Given the description of an element on the screen output the (x, y) to click on. 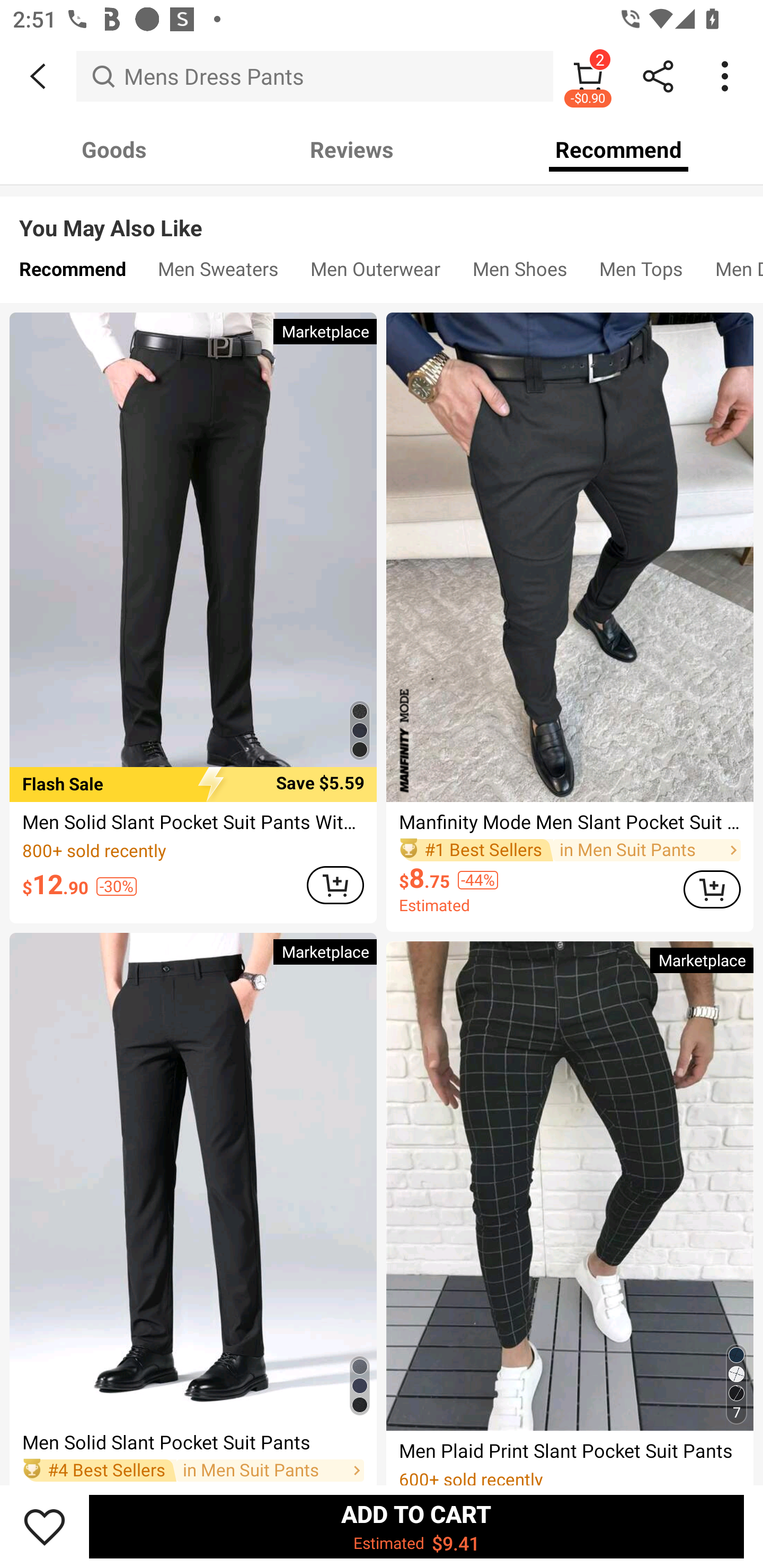
BACK (38, 75)
2 -$0.90 (588, 75)
Mens Dress Pants (314, 75)
Goods (114, 149)
Reviews (351, 149)
Recommend (618, 149)
You May Also Like (381, 214)
Recommend (72, 273)
Men Sweaters (217, 273)
Men Outerwear (375, 273)
Men Shoes (520, 273)
Men Tops (641, 273)
#1 Best Sellers in Men Suit Pants (569, 849)
ADD TO CART (334, 884)
ADD TO CART (711, 888)
#4 Best Sellers in Men Suit Pants (192, 1470)
ADD TO CART Estimated   $9.41 (416, 1526)
Save (44, 1526)
